Given the description of an element on the screen output the (x, y) to click on. 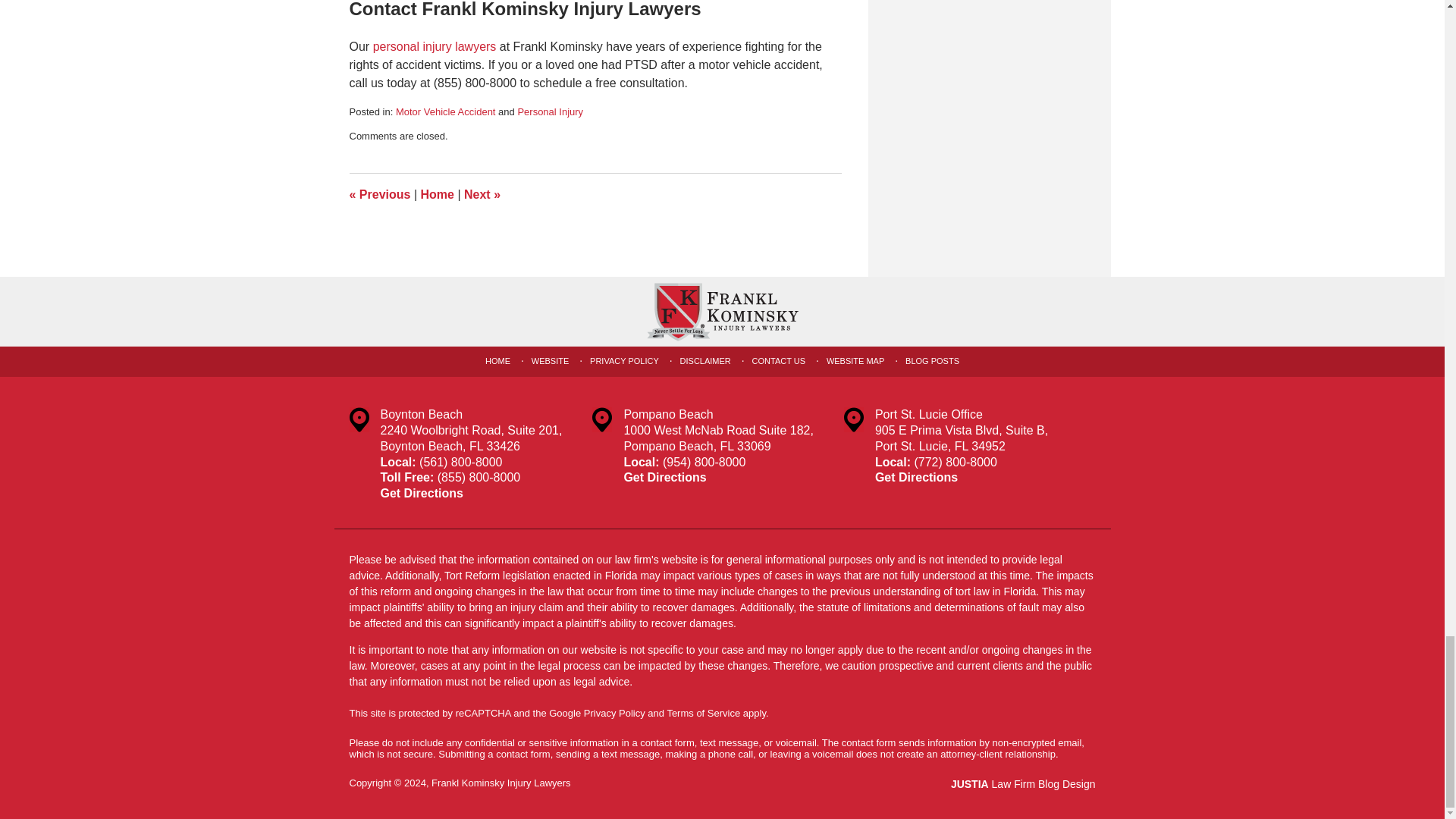
View all posts in Personal Injury (549, 111)
Home (436, 194)
Most Common Causes of Car Accidents (379, 194)
Motor Vehicle Accident (446, 111)
How Does a Wrongful Death Settlement Work? (482, 194)
View all posts in Motor Vehicle Accident (446, 111)
personal injury lawyers (434, 46)
Personal Injury (549, 111)
